Given the description of an element on the screen output the (x, y) to click on. 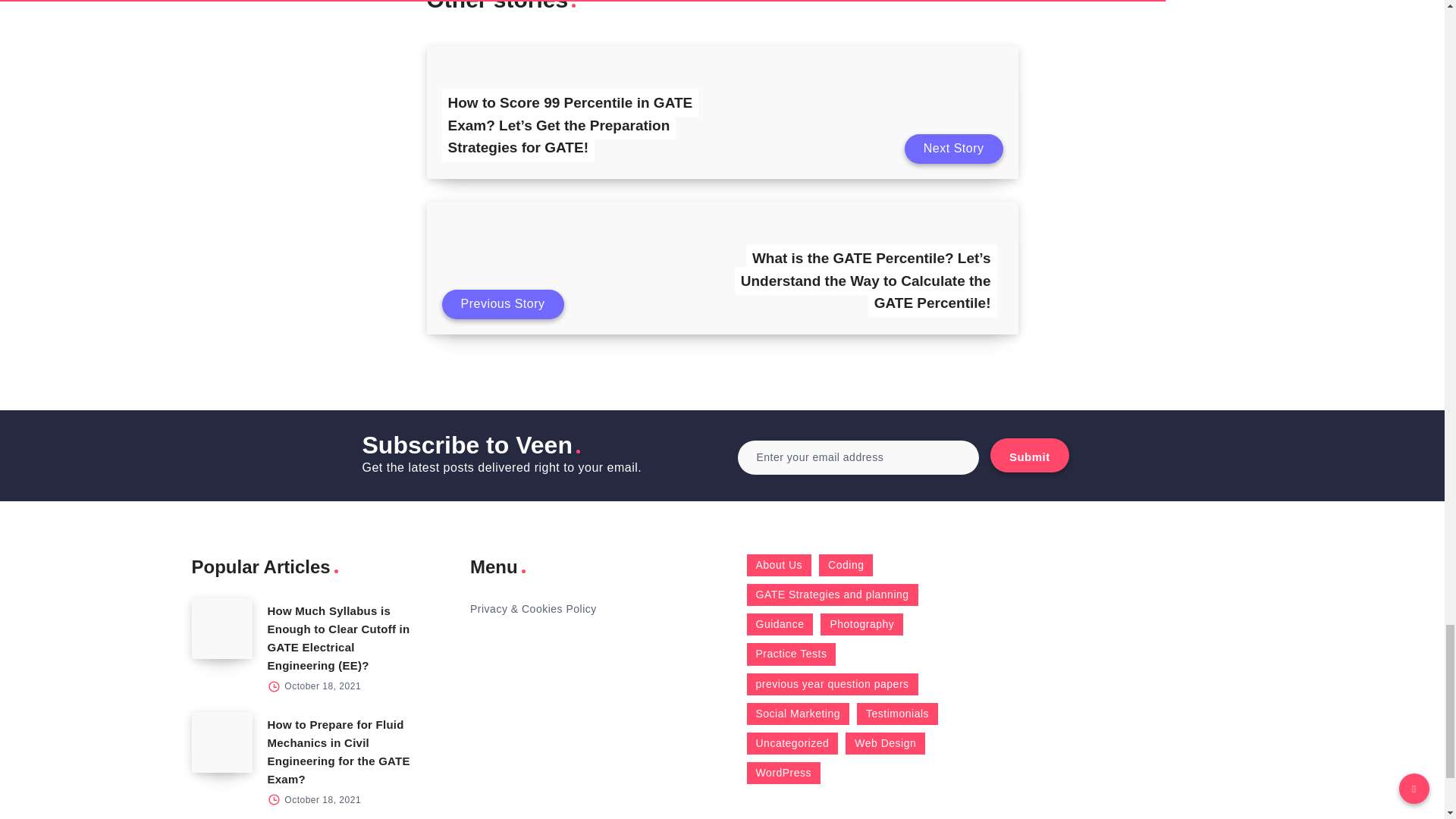
Submit (1029, 455)
About Us (777, 565)
GATE Strategies and planning (831, 594)
Coding (845, 565)
